Given the description of an element on the screen output the (x, y) to click on. 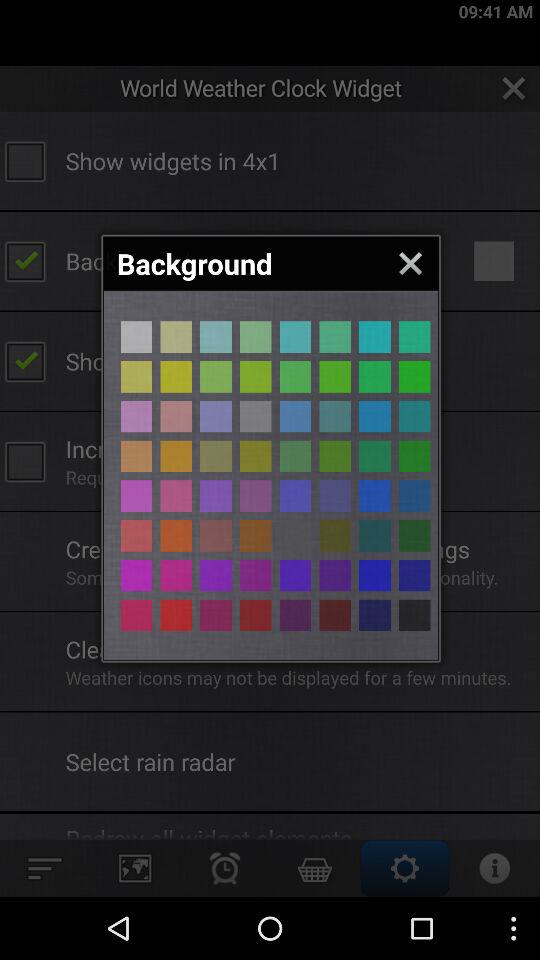
background colour selection (335, 495)
